Given the description of an element on the screen output the (x, y) to click on. 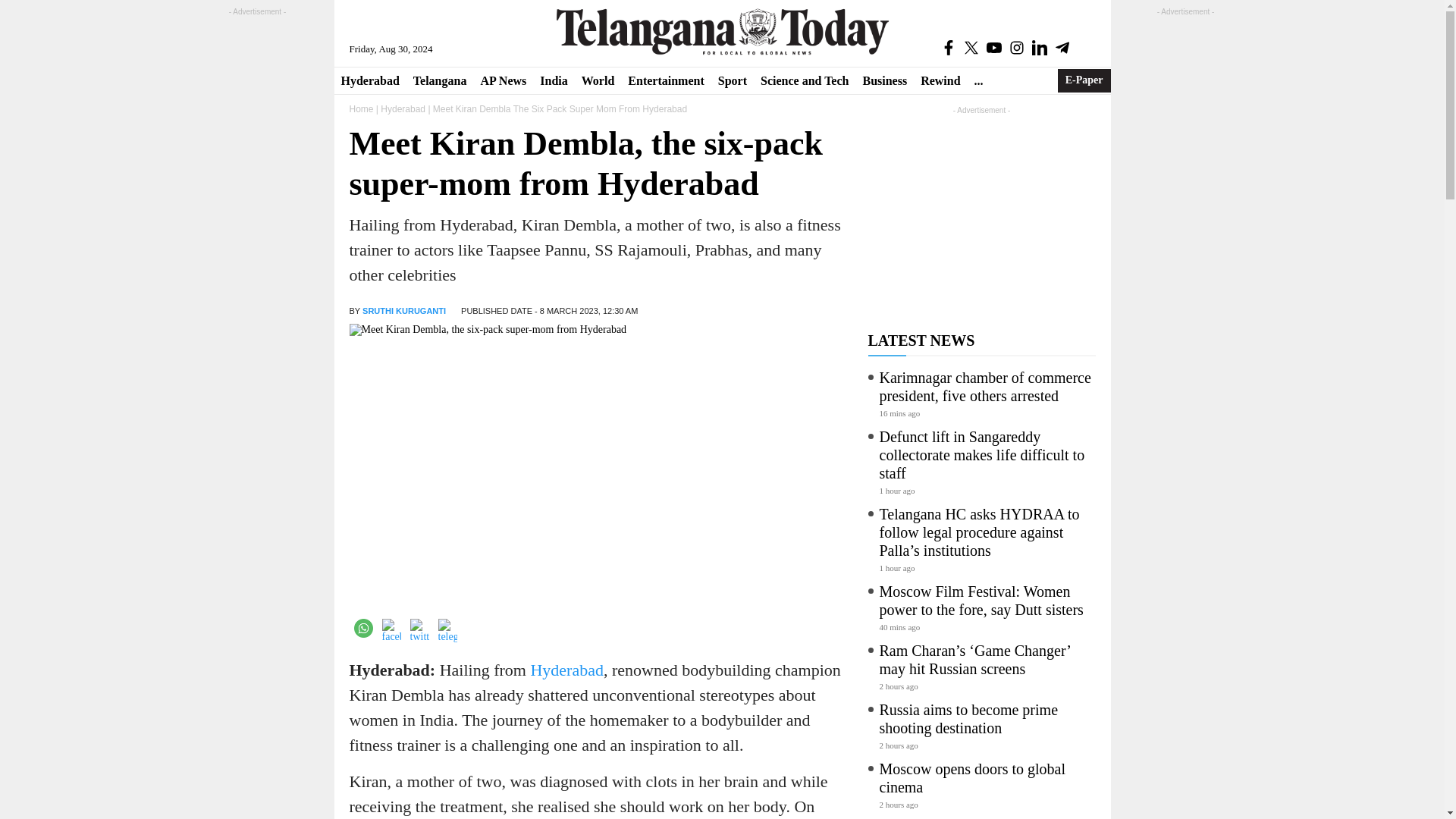
E-Paper (1084, 80)
India (552, 80)
India (552, 80)
Hyderabad (369, 80)
World (598, 80)
... (979, 80)
Rewind (940, 80)
Entertainment (665, 80)
Sport (732, 80)
Science and Tech (805, 80)
